Given the description of an element on the screen output the (x, y) to click on. 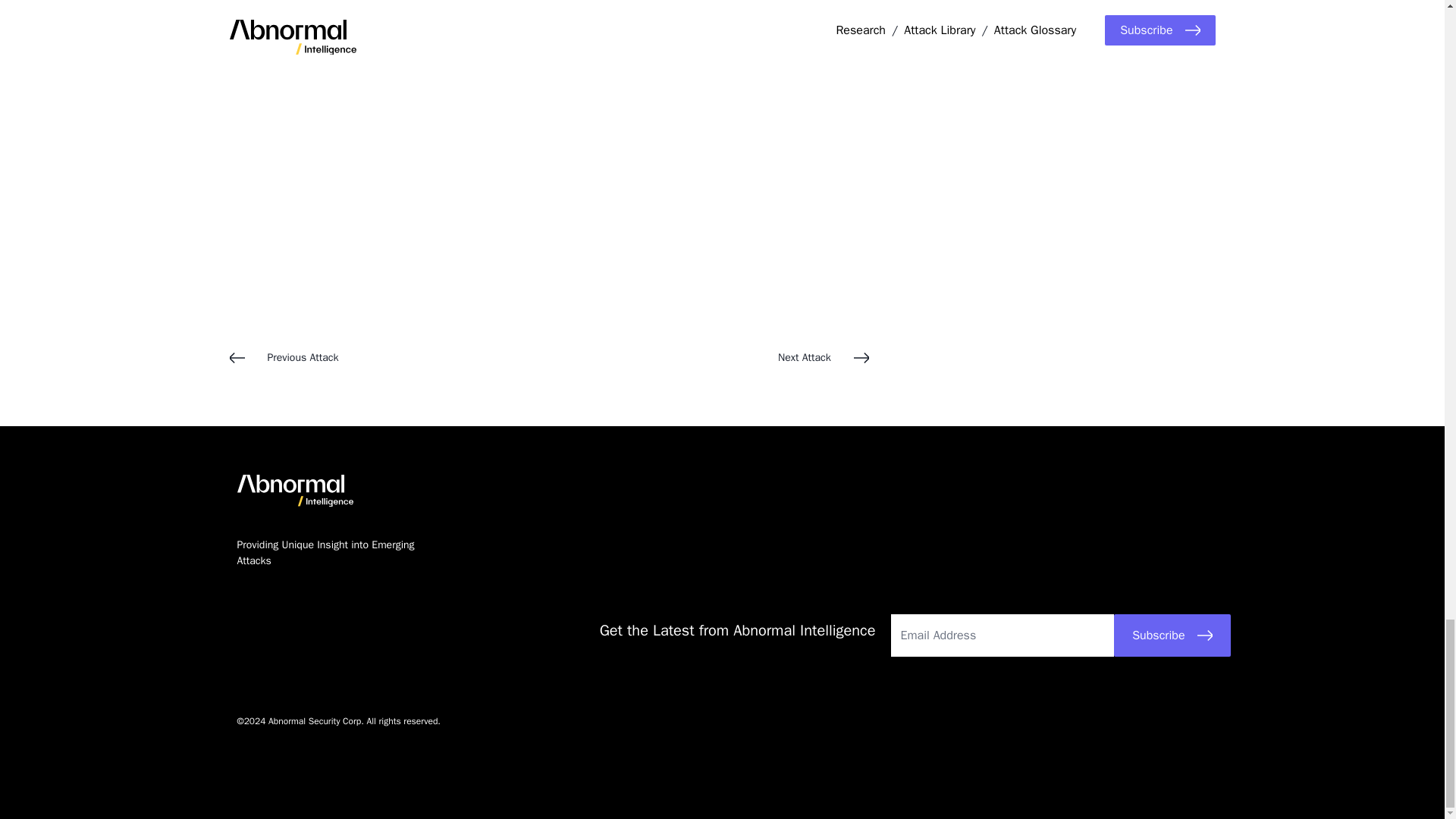
Next Attack (708, 357)
Previous Attack (388, 357)
Subscribe (1171, 635)
